Given the description of an element on the screen output the (x, y) to click on. 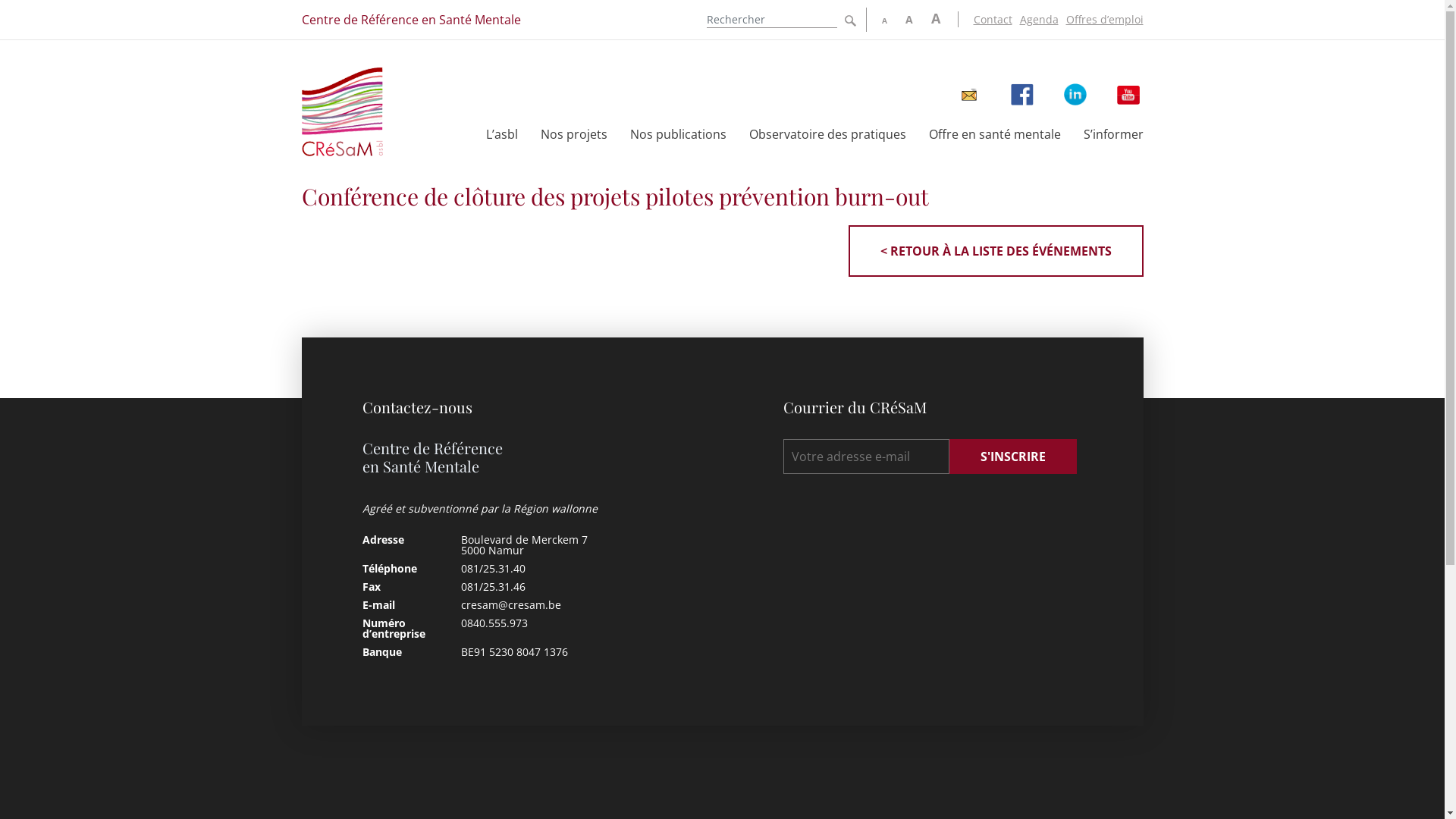
cresam@cresam.be Element type: text (511, 604)
Newsletter Element type: text (968, 94)
Search Element type: text (850, 20)
Facebook Element type: text (1022, 94)
Youtube Element type: text (1128, 94)
A
Decrease font size. Element type: text (883, 20)
Observatoire des pratiques Element type: text (827, 134)
Nos projets Element type: text (572, 134)
S'inscrire Element type: text (1012, 456)
A
Increase font size. Element type: text (935, 17)
Linkedin Element type: text (1075, 94)
Contact Element type: text (989, 19)
Nos publications Element type: text (677, 134)
A
Reset font size. Element type: text (908, 19)
081/25.31.40 Element type: text (493, 568)
Agenda Element type: text (1034, 19)
